Given the description of an element on the screen output the (x, y) to click on. 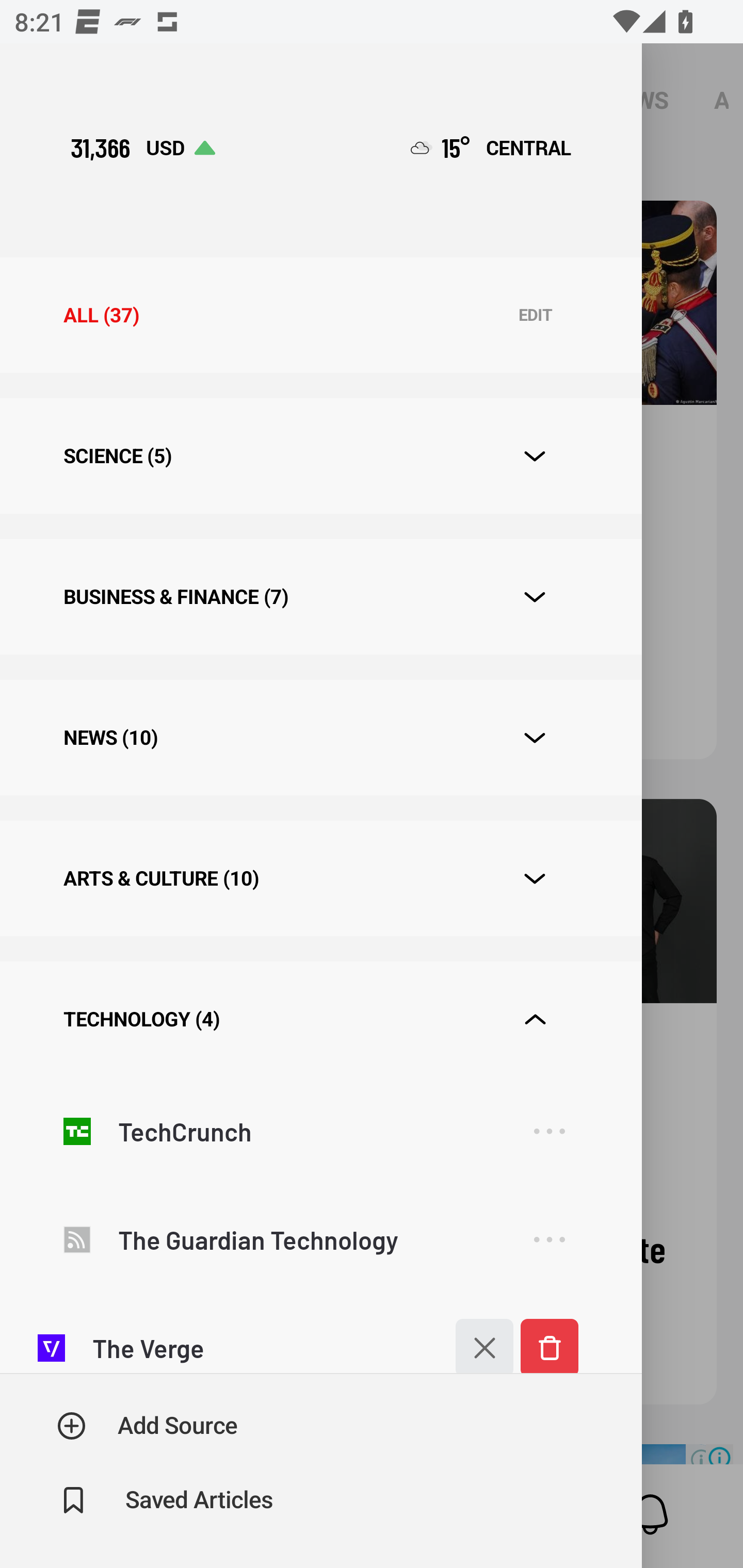
31,366 USD Current State of the Currency (142, 147)
Current State of the Weather 15° CENTRAL (490, 147)
ALL  (37) EDIT (320, 315)
EDIT (534, 315)
SCIENCE  (5) Expand Button (320, 456)
Expand Button (534, 456)
BUSINESS & FINANCE  (7) Expand Button (320, 596)
Expand Button (534, 597)
NEWS  (10) Expand Button (320, 737)
Expand Button (534, 737)
ARTS & CULTURE  (10) Expand Button (320, 878)
Expand Button (534, 878)
Expand Button (534, 1019)
Writer Logo TechCrunch More Options (320, 1131)
More Options (548, 1131)
RSS Feed Icon The Guardian Technology More Options (320, 1239)
More Options (548, 1239)
Writer Logo The Verge Cancel Action Remove Source (320, 1333)
Cancel Action (473, 1338)
Remove Source (548, 1338)
Open Content Store Add Source (147, 1425)
Open Saved News  Saved Articles (166, 1500)
